Given the description of an element on the screen output the (x, y) to click on. 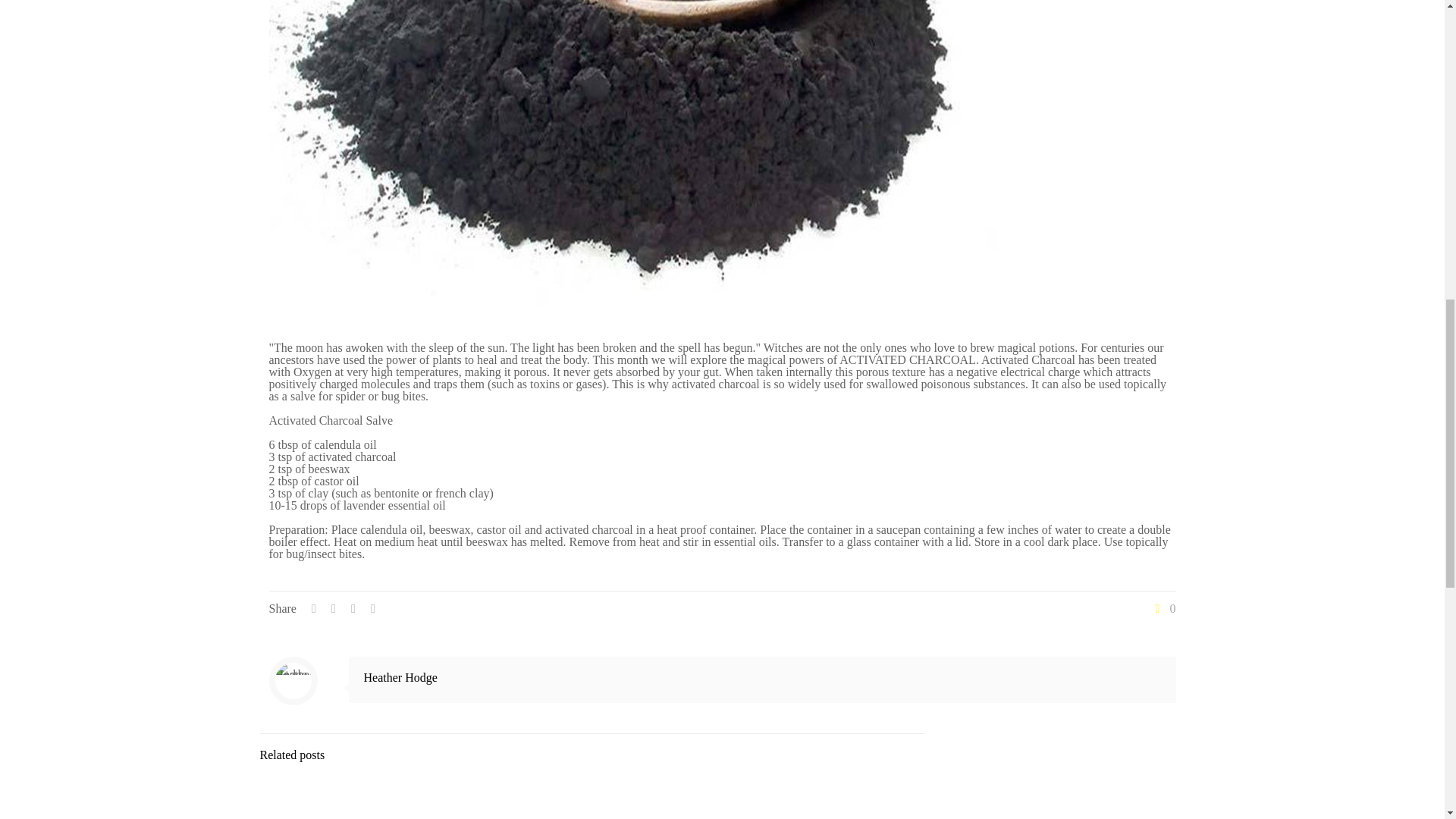
Heather Hodge (401, 676)
0 (1162, 608)
